Given the description of an element on the screen output the (x, y) to click on. 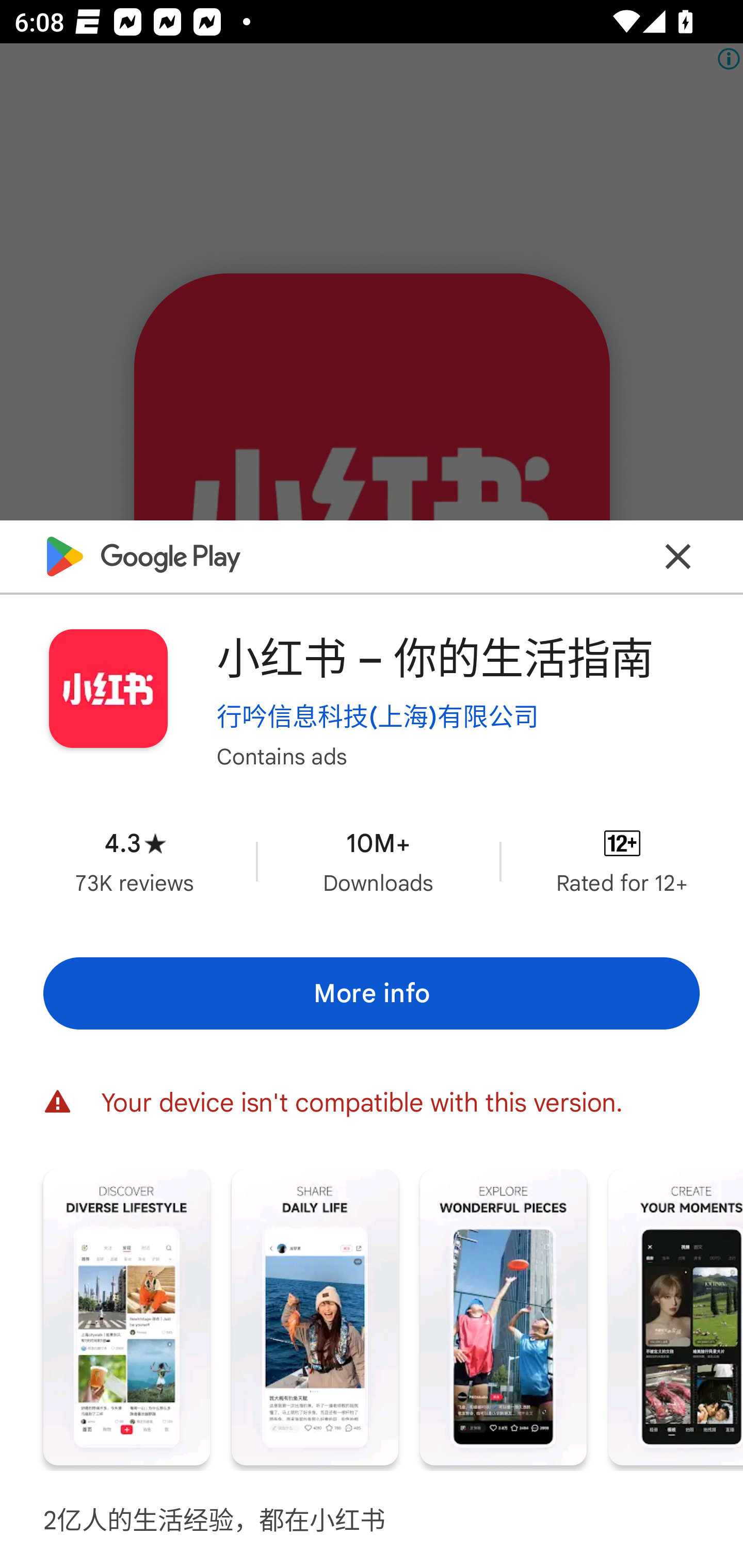
Close (677, 556)
Image of app or game icon for 小红书 – 你的生活指南 (108, 689)
行吟信息科技(上海)有限公司 (377, 716)
More info (371, 994)
Screenshot "1" of "5" (126, 1317)
Screenshot "2" of "5" (314, 1317)
Screenshot "3" of "5" (502, 1317)
Screenshot "4" of "5" (675, 1317)
